Given the description of an element on the screen output the (x, y) to click on. 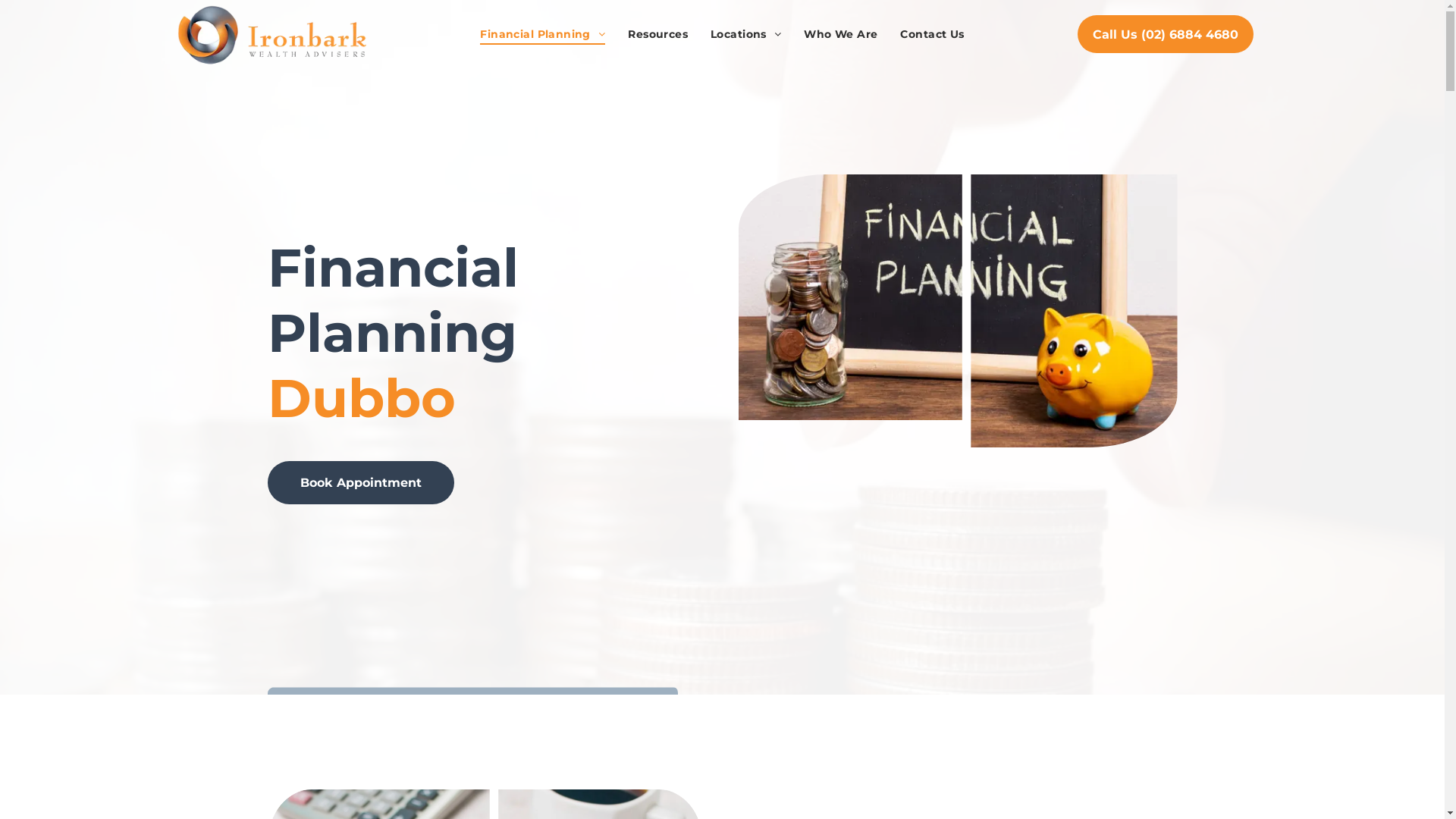
Who We Are Element type: text (840, 33)
Locations Element type: text (745, 33)
Resources Element type: text (657, 33)
Financial Planning Element type: text (542, 33)
Book Appointment Element type: text (359, 482)
Contact Us Element type: text (931, 33)
Financial Advisor Dubbo Element type: hover (272, 34)
Call Us (02) 6884 4680 Element type: text (1165, 34)
